Given the description of an element on the screen output the (x, y) to click on. 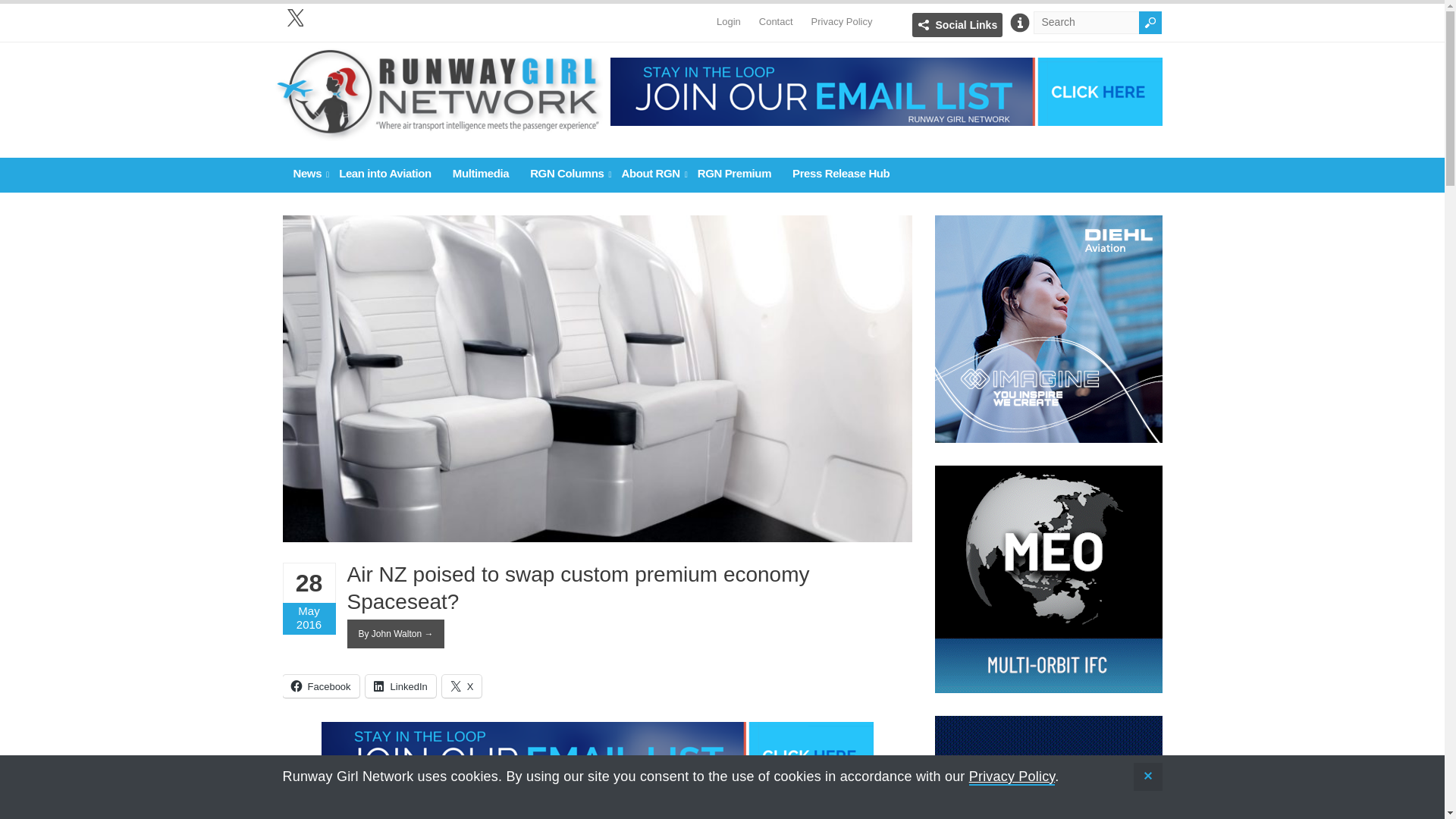
Search (1149, 22)
Click to share on Facebook (320, 685)
Login (728, 14)
Click to share on X (461, 685)
Runway Girl (438, 133)
Click to share on LinkedIn (400, 685)
